Given the description of an element on the screen output the (x, y) to click on. 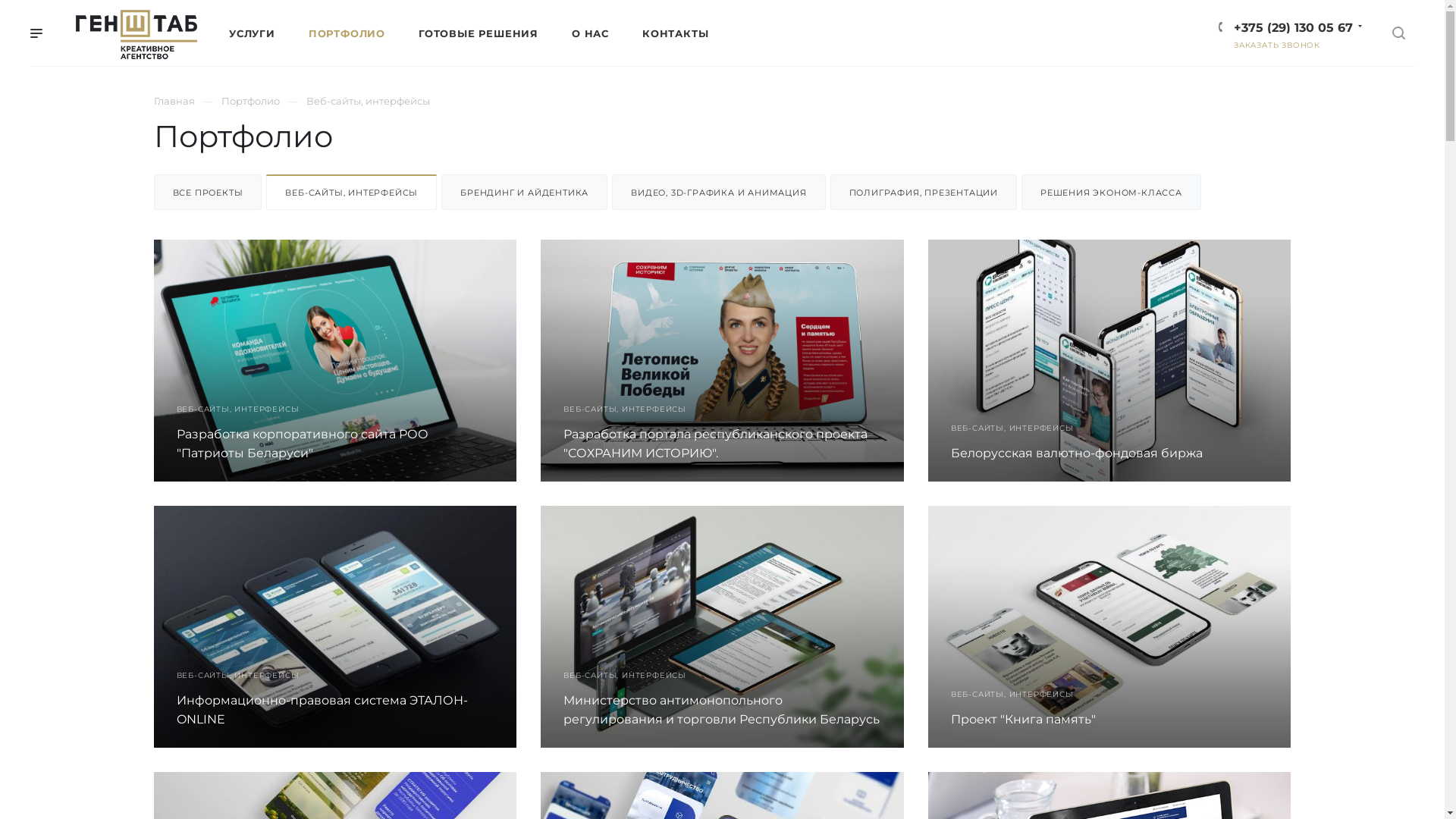
+375 (29) 130 05 67 Element type: text (1292, 26)
